Given the description of an element on the screen output the (x, y) to click on. 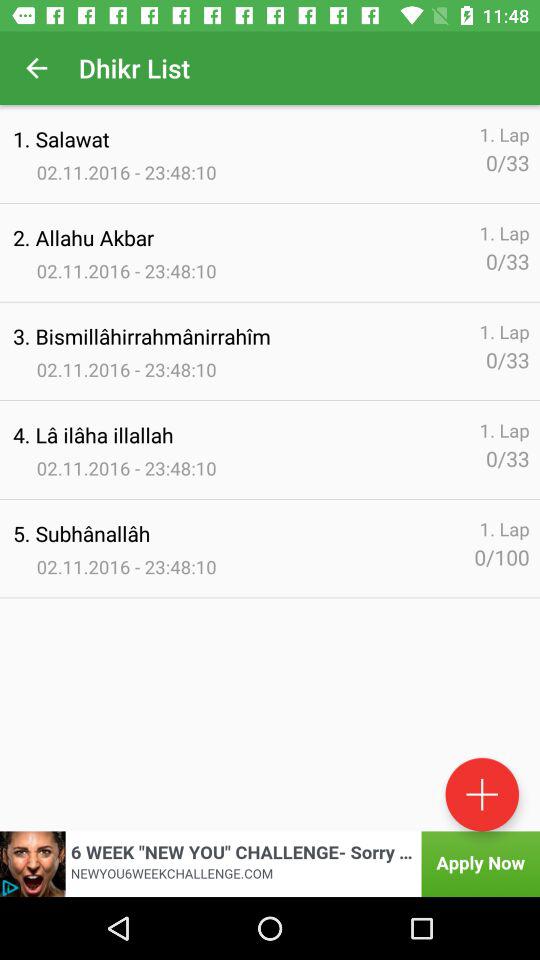
launch app to the left of the dhikr list app (36, 68)
